Given the description of an element on the screen output the (x, y) to click on. 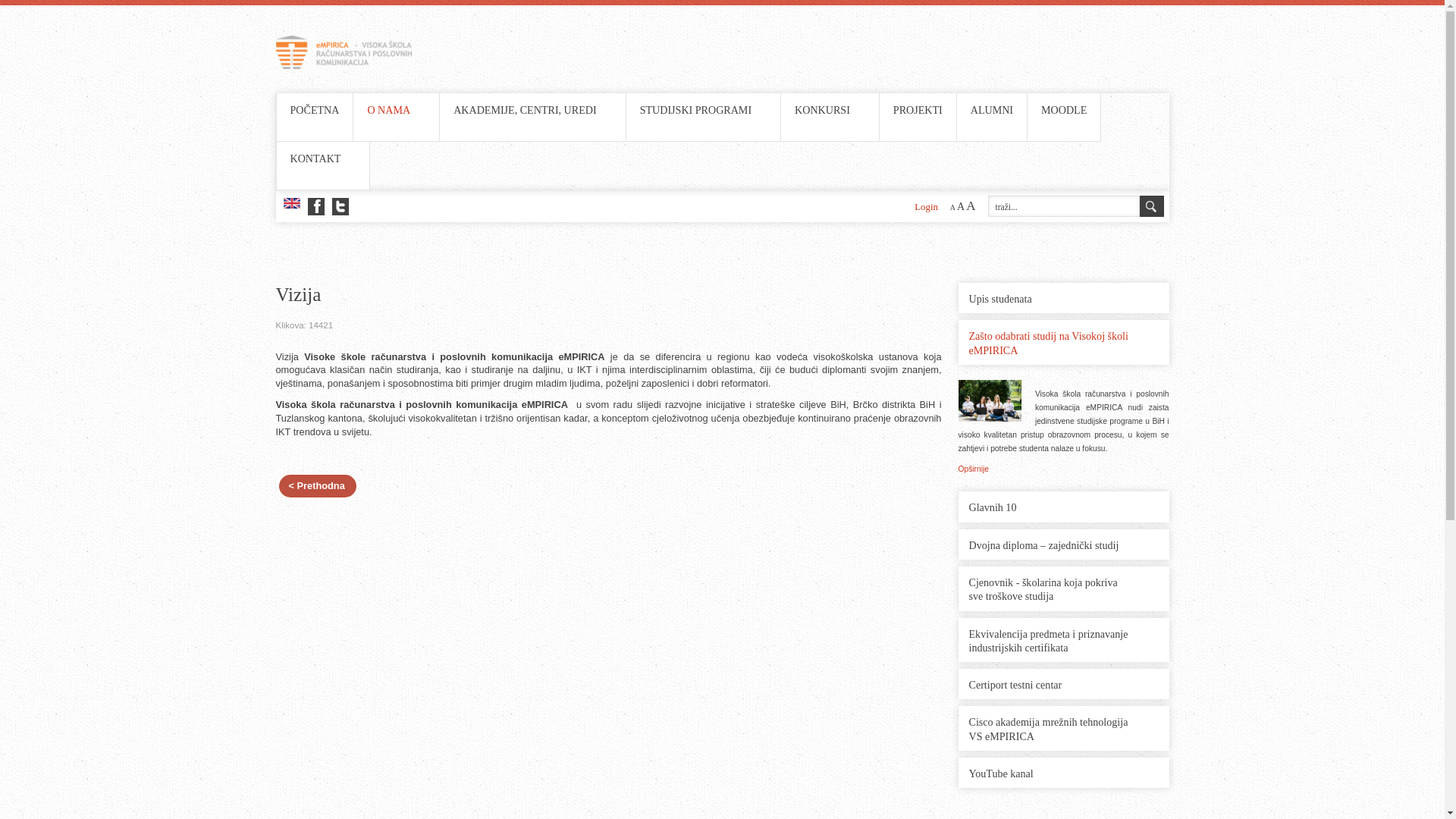
AKADEMIJE, CENTRI, UREDI Element type: text (524, 109)
ALUMNI Element type: text (991, 109)
KONTAKT Element type: text (314, 158)
MOODLE Element type: text (1063, 109)
PROJEKTI Element type: text (917, 110)
STUDIJSKI PROGRAMI Element type: text (703, 110)
Find Element type: text (1151, 205)
O NAMA Element type: text (388, 109)
A Element type: text (970, 205)
A Element type: text (952, 207)
KONTAKT Element type: text (322, 159)
KONKURSI Element type: text (829, 110)
MOODLE Element type: text (1063, 110)
O NAMA Element type: text (396, 110)
ALUMNI Element type: text (991, 110)
A Element type: text (960, 206)
AKADEMIJE, CENTRI, UREDI Element type: text (532, 110)
KONKURSI Element type: text (822, 109)
< Prethodna Element type: text (317, 485)
STUDIJSKI PROGRAMI Element type: text (695, 109)
PROJEKTI Element type: text (917, 109)
Vizija Element type: text (608, 294)
